Given the description of an element on the screen output the (x, y) to click on. 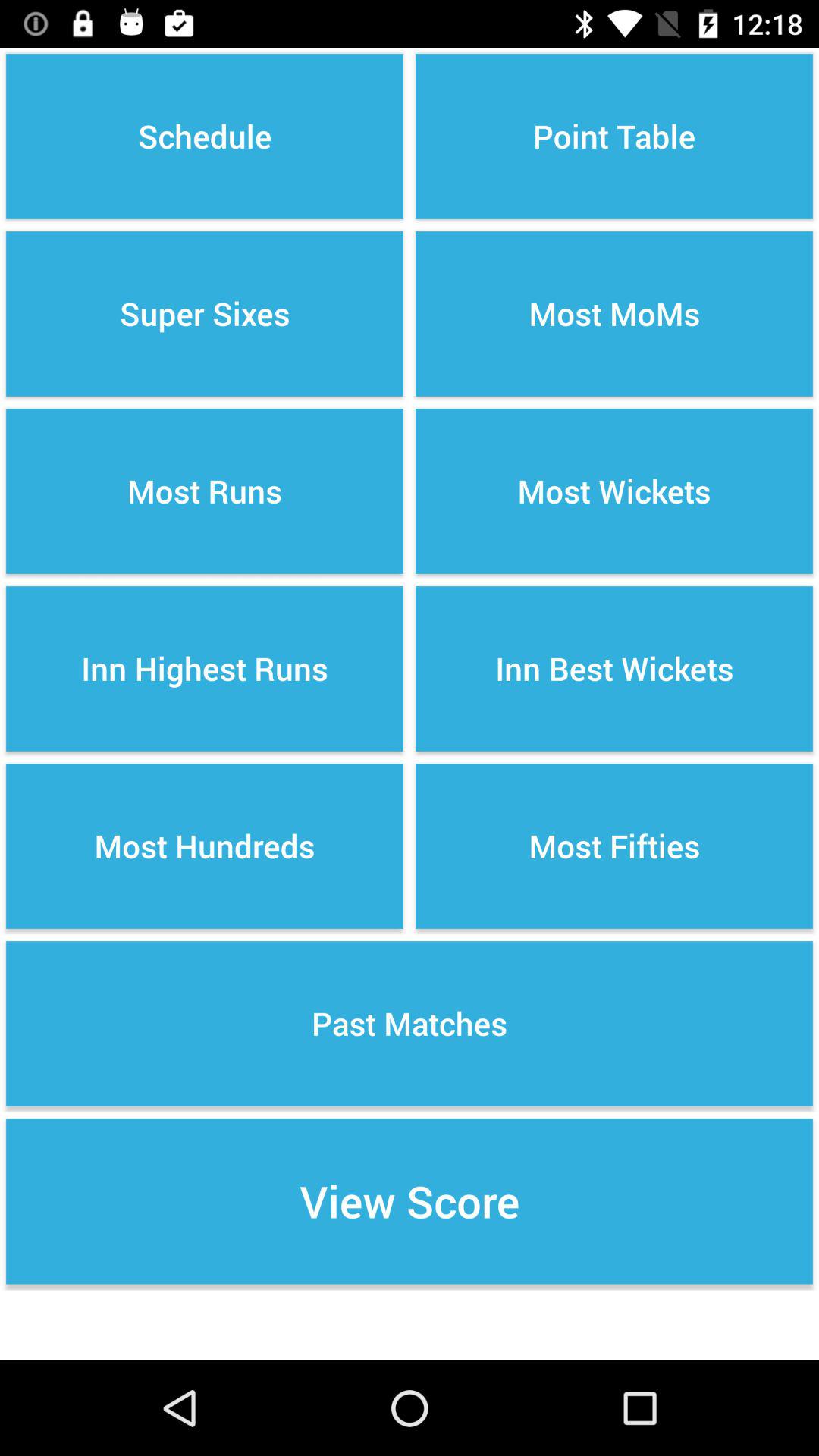
open the icon below the most moms button (613, 490)
